Given the description of an element on the screen output the (x, y) to click on. 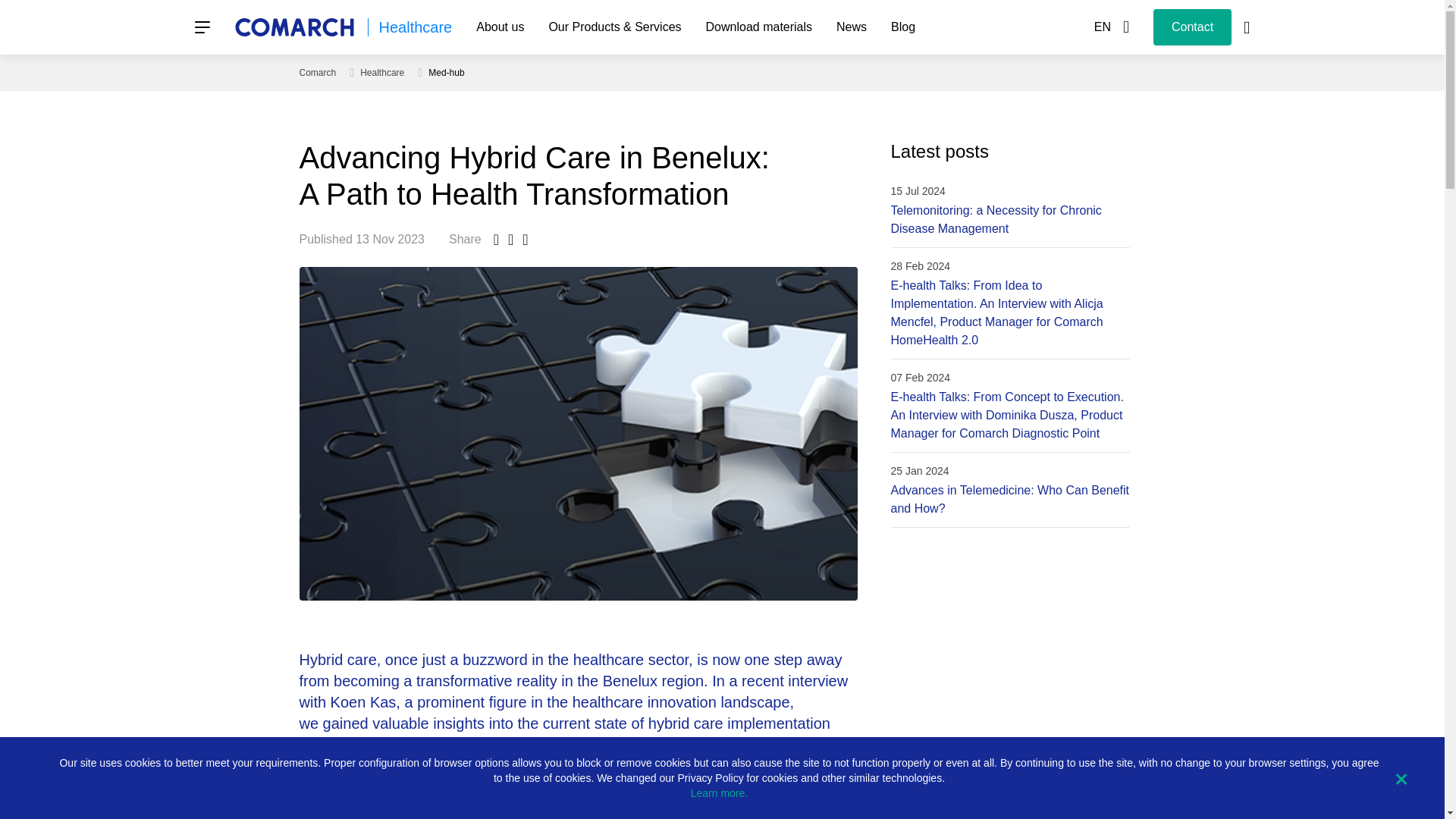
COMARCH (292, 27)
Healthcare (415, 27)
Download materials (759, 27)
Contact (1192, 27)
EN (1111, 27)
News (851, 27)
About us (499, 27)
